Given the description of an element on the screen output the (x, y) to click on. 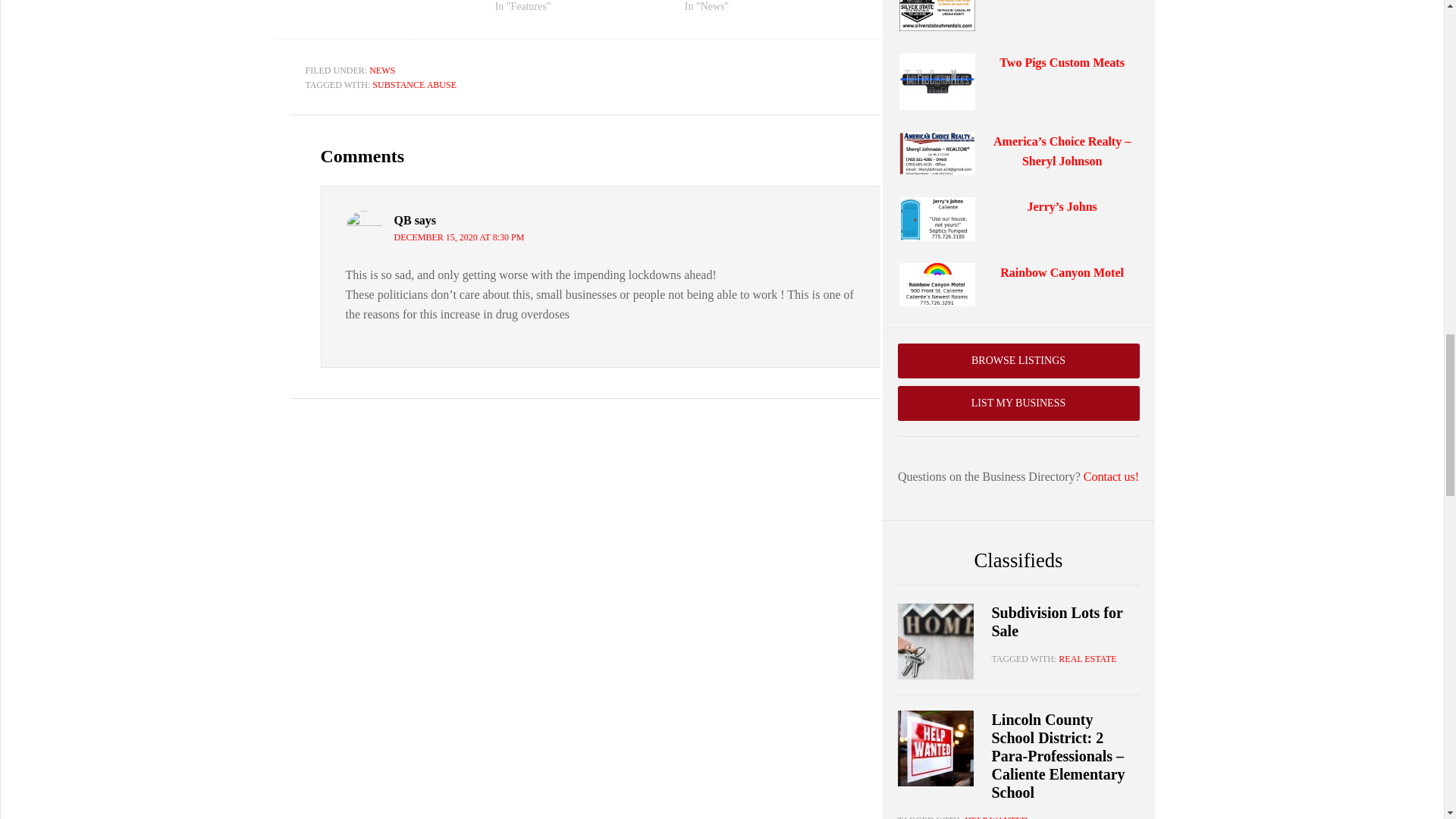
SUBSTANCE ABUSE (414, 84)
NEWS (381, 70)
DECEMBER 15, 2020 AT 8:30 PM (459, 236)
